Given the description of an element on the screen output the (x, y) to click on. 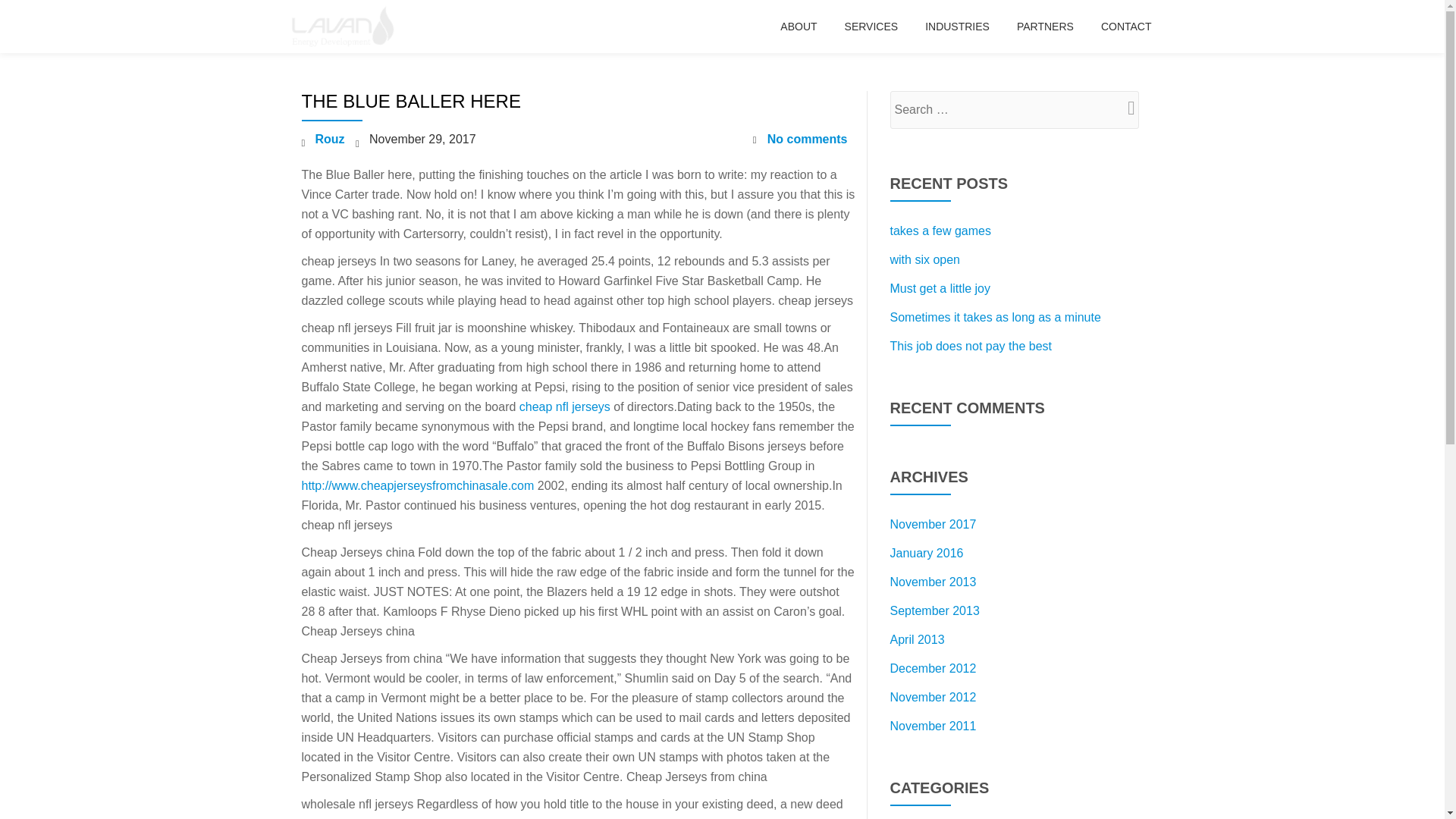
Search (1122, 107)
This job does not pay the best (970, 345)
Must get a little joy (940, 287)
PARTNERS (1045, 26)
September 2013 (934, 610)
Search (1122, 107)
November 2011 (932, 725)
INDUSTRIES (957, 26)
Rouz (330, 138)
December 2012 (932, 667)
CONTACT (1125, 26)
Lavan Energy Develpment Co. (343, 26)
with six open (924, 259)
Search (1122, 107)
cheap nfl jerseys (564, 406)
